Given the description of an element on the screen output the (x, y) to click on. 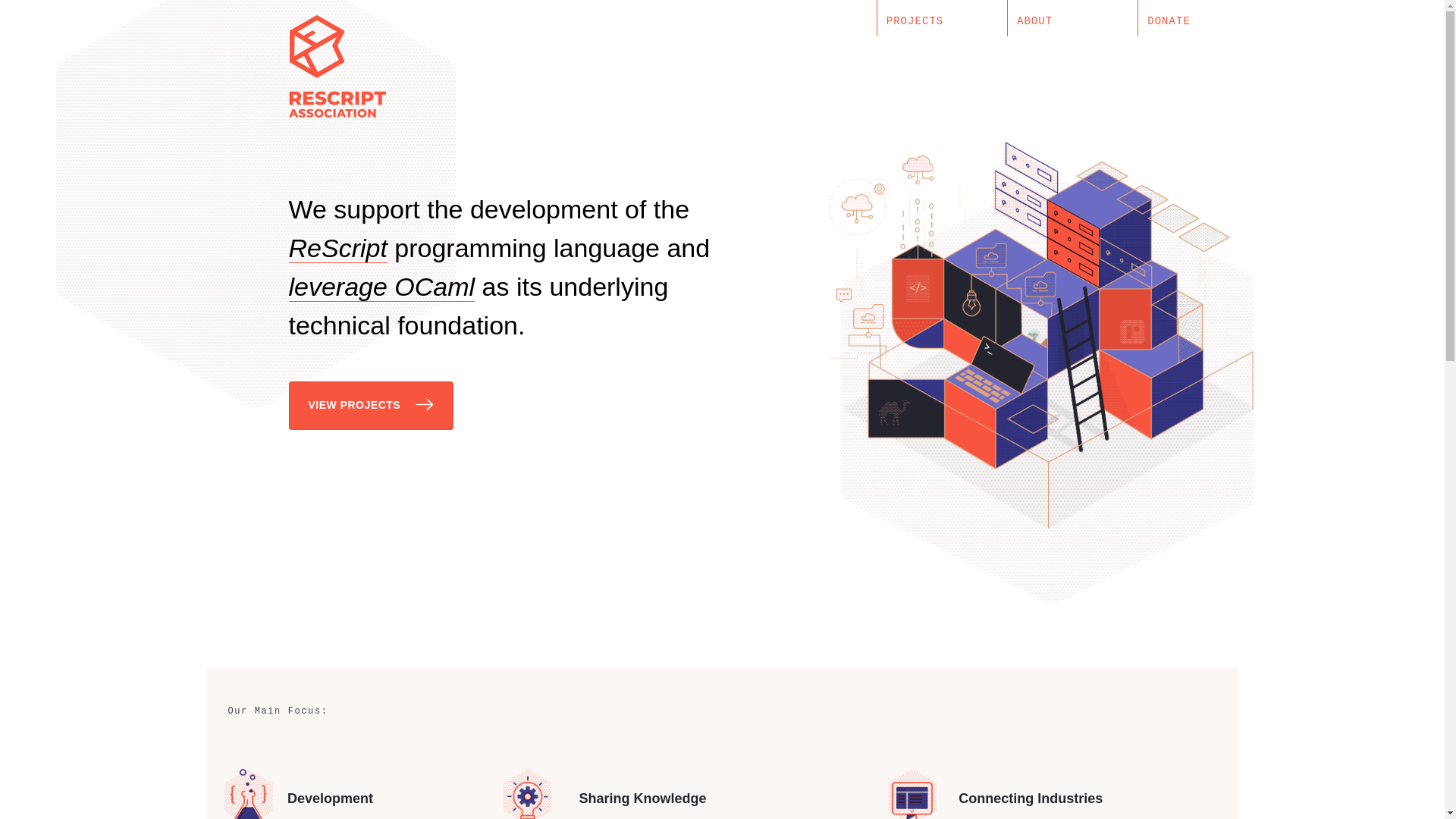
VIEW PROJECTS (370, 405)
leverage OCaml (381, 286)
PROJECTS (941, 18)
ReScript (337, 247)
DONATE (1202, 18)
ABOUT (1072, 18)
